Given the description of an element on the screen output the (x, y) to click on. 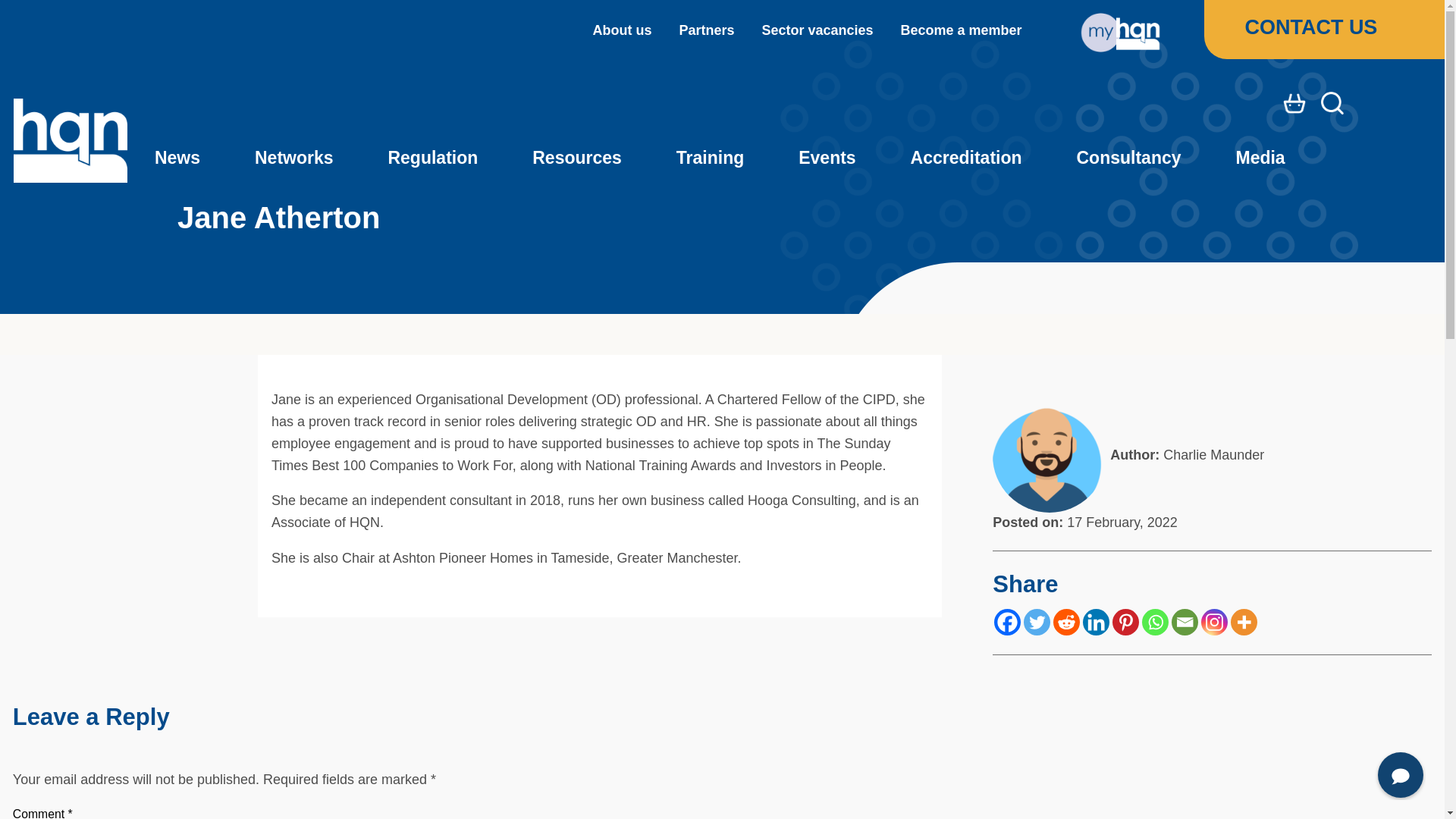
Reddit (1066, 622)
Regulation (433, 157)
Pinterest (1125, 622)
Webchat Widget (1390, 766)
About us (621, 29)
Regulation (433, 157)
Email (1185, 622)
News (177, 157)
More (1243, 622)
Twitter (1036, 622)
Facebook (1007, 622)
Networks (294, 157)
Whatsapp (1155, 622)
Instagram (1214, 622)
Linkedin (1096, 622)
